Given the description of an element on the screen output the (x, y) to click on. 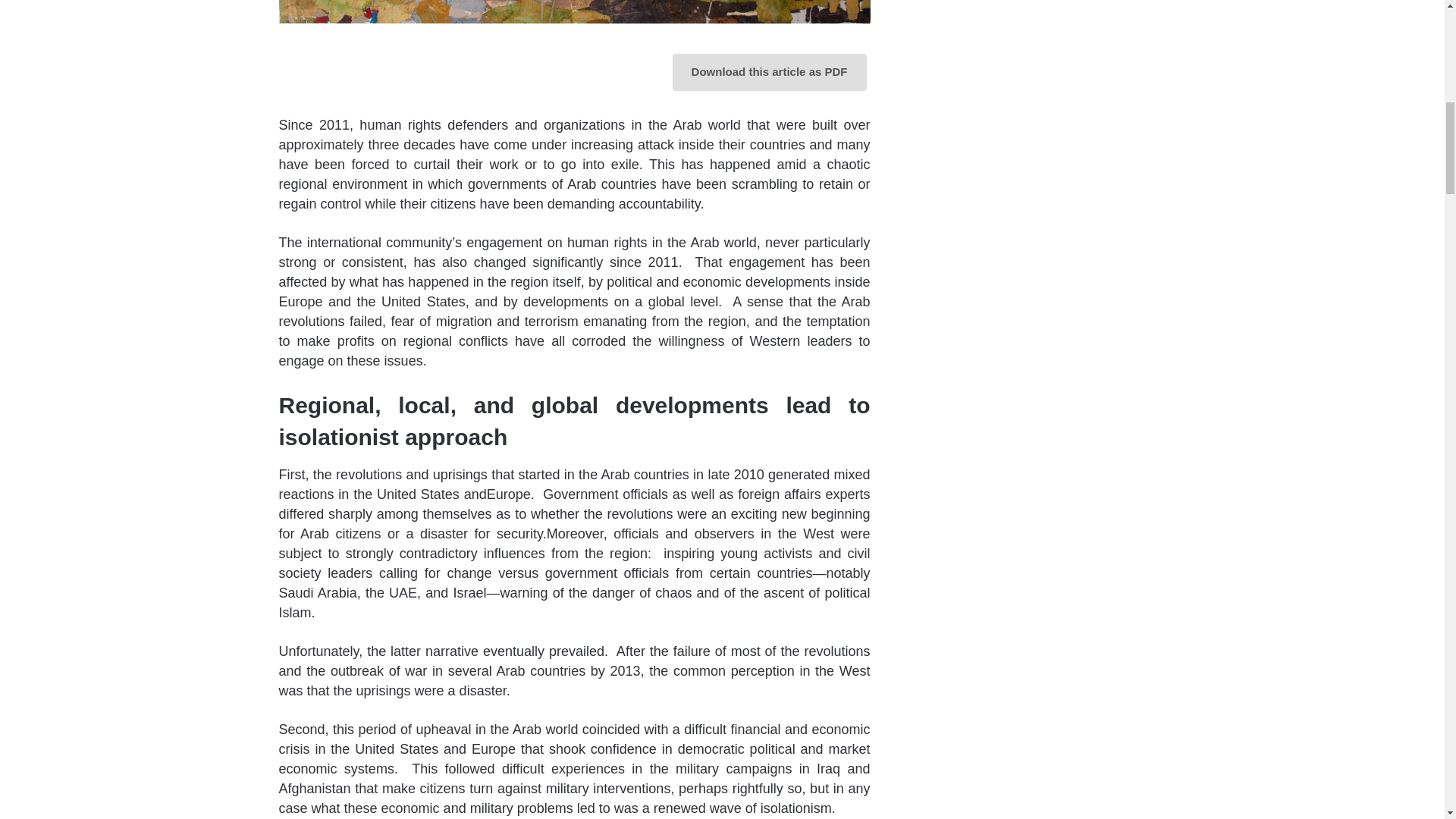
Download this article as PDF (769, 72)
